Given the description of an element on the screen output the (x, y) to click on. 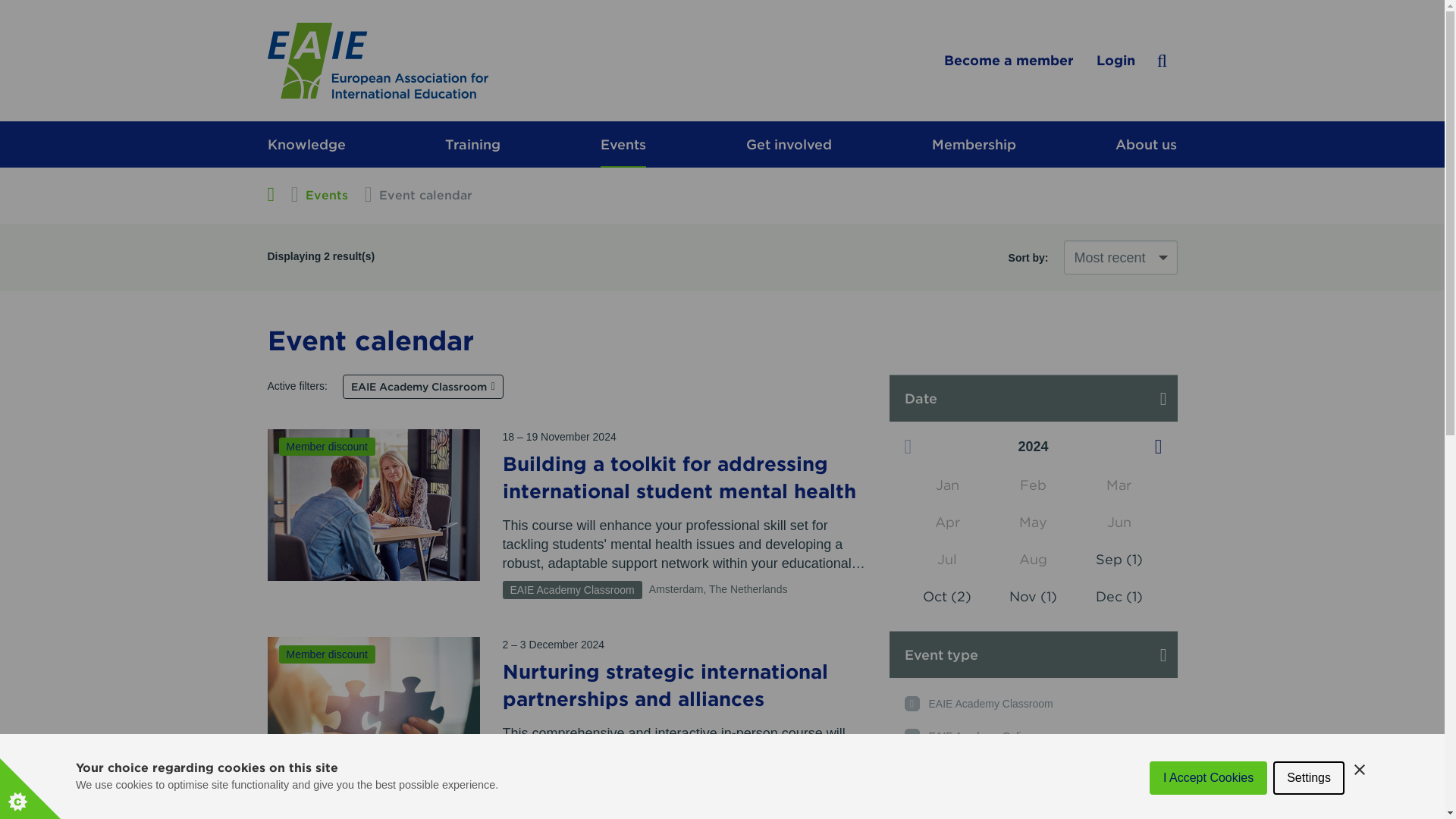
Events (622, 144)
Skip to content (315, 138)
Become a member (1008, 60)
Settings (1307, 811)
I Accept Cookies (1208, 815)
Training (472, 144)
Login (1115, 60)
Knowledge (305, 144)
